Given the description of an element on the screen output the (x, y) to click on. 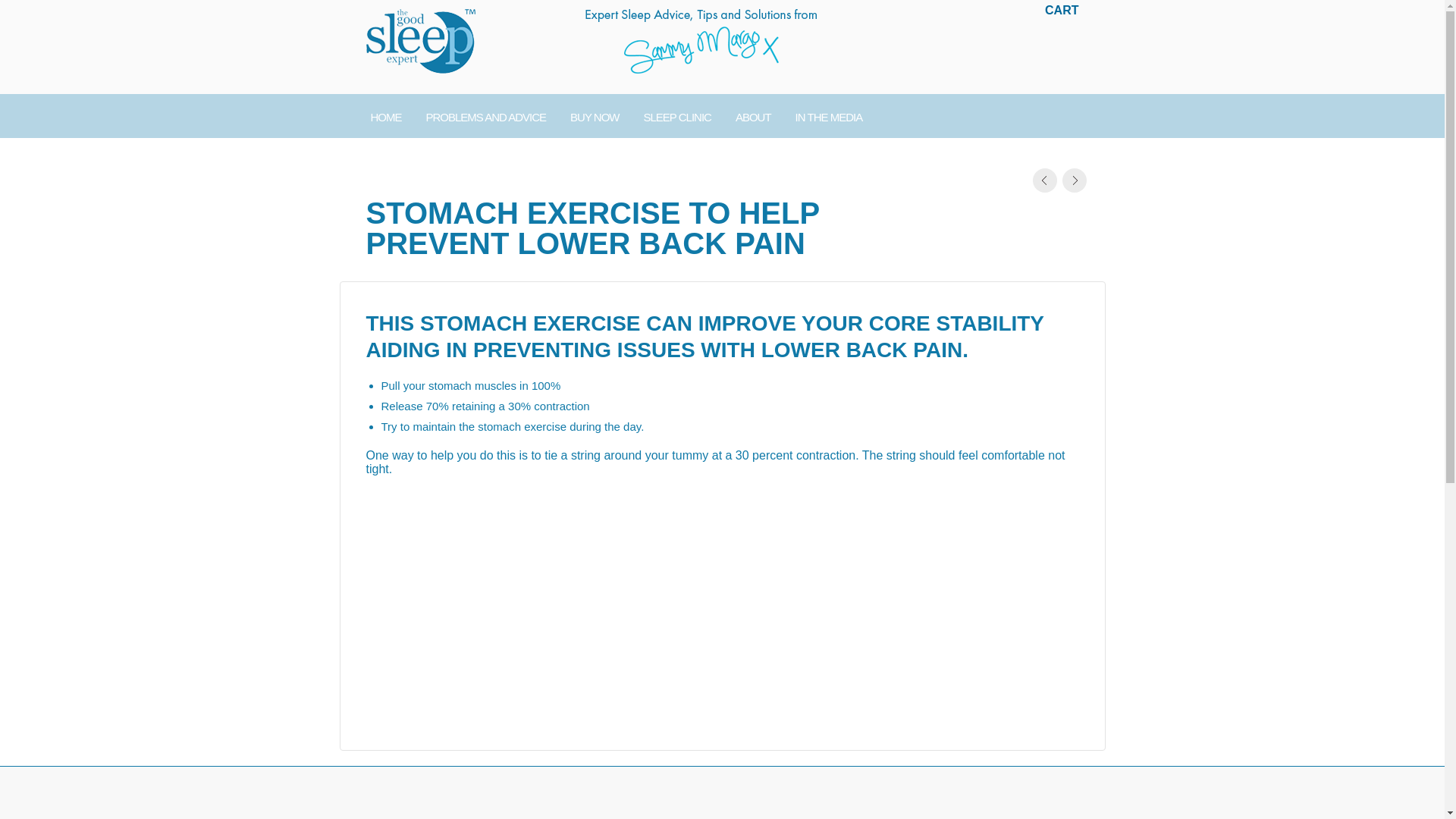
ABOUT (753, 116)
BUY NOW (593, 116)
CONTACT US (402, 159)
PROBLEMS AND ADVICE (486, 116)
HOME (385, 116)
SLEEP CLINIC (676, 116)
IN THE MEDIA (829, 116)
